Given the description of an element on the screen output the (x, y) to click on. 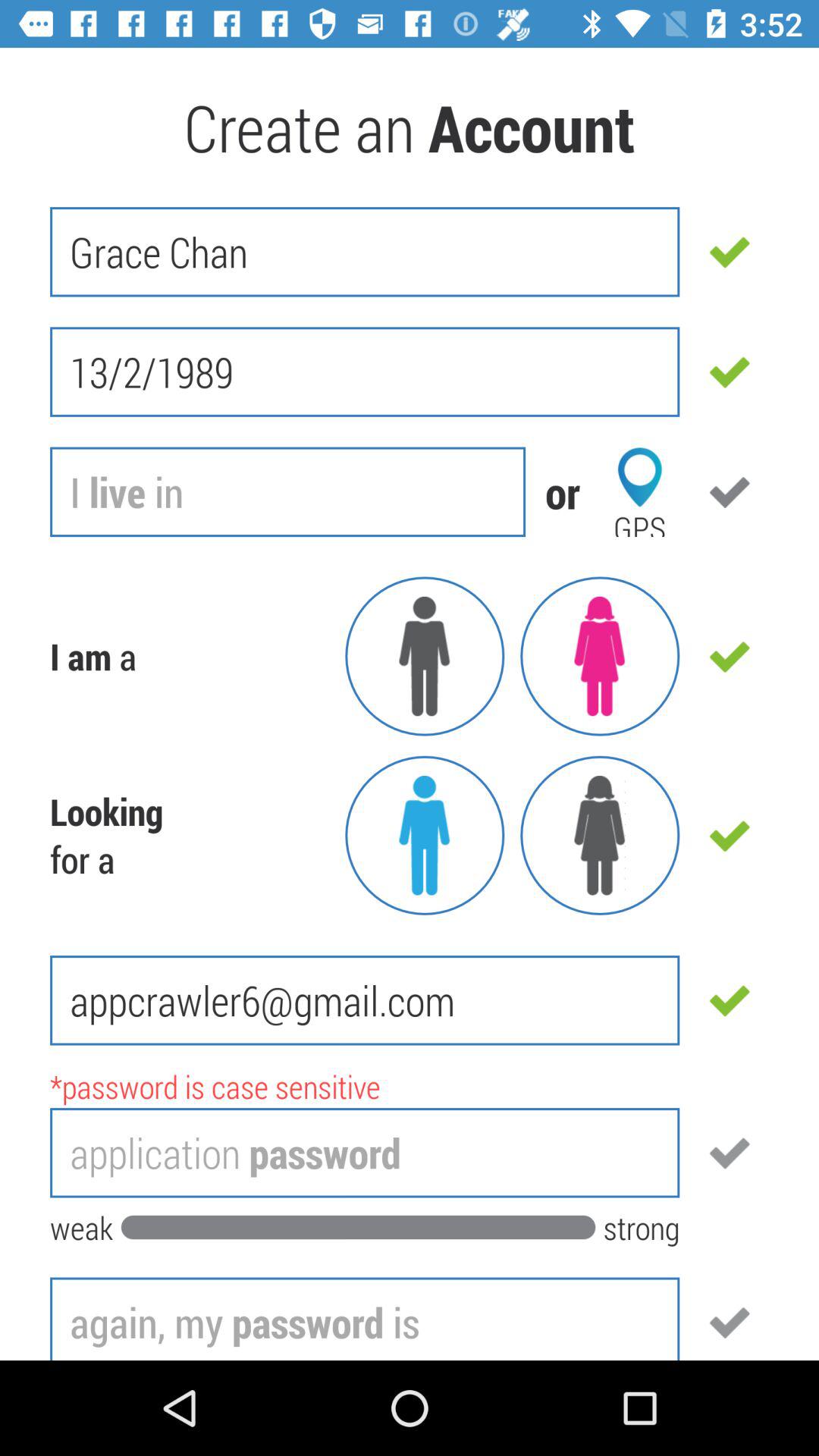
jump to appcrawler6@gmail.com item (364, 1000)
